Given the description of an element on the screen output the (x, y) to click on. 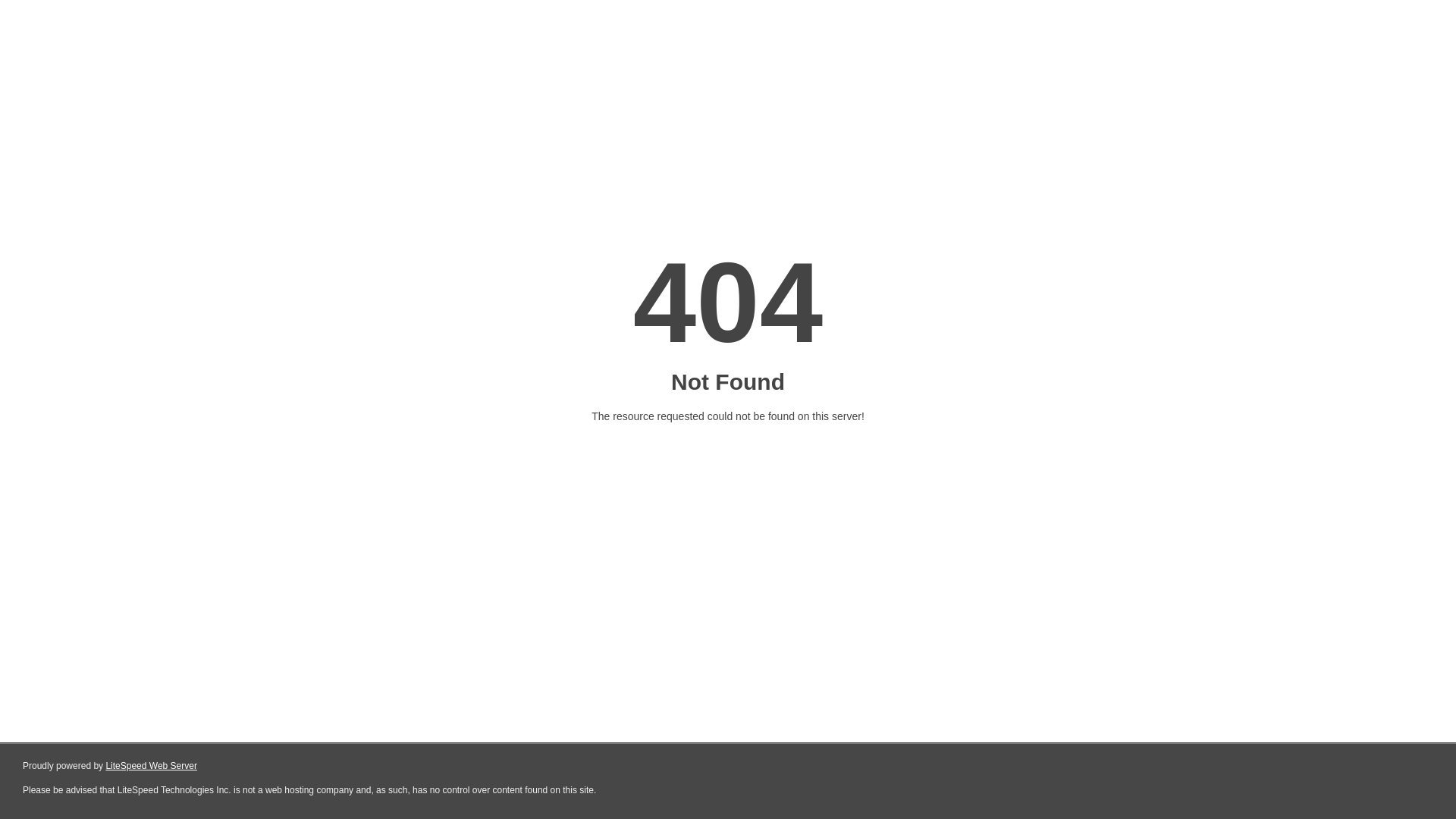
LiteSpeed Web Server Element type: text (151, 765)
